Given the description of an element on the screen output the (x, y) to click on. 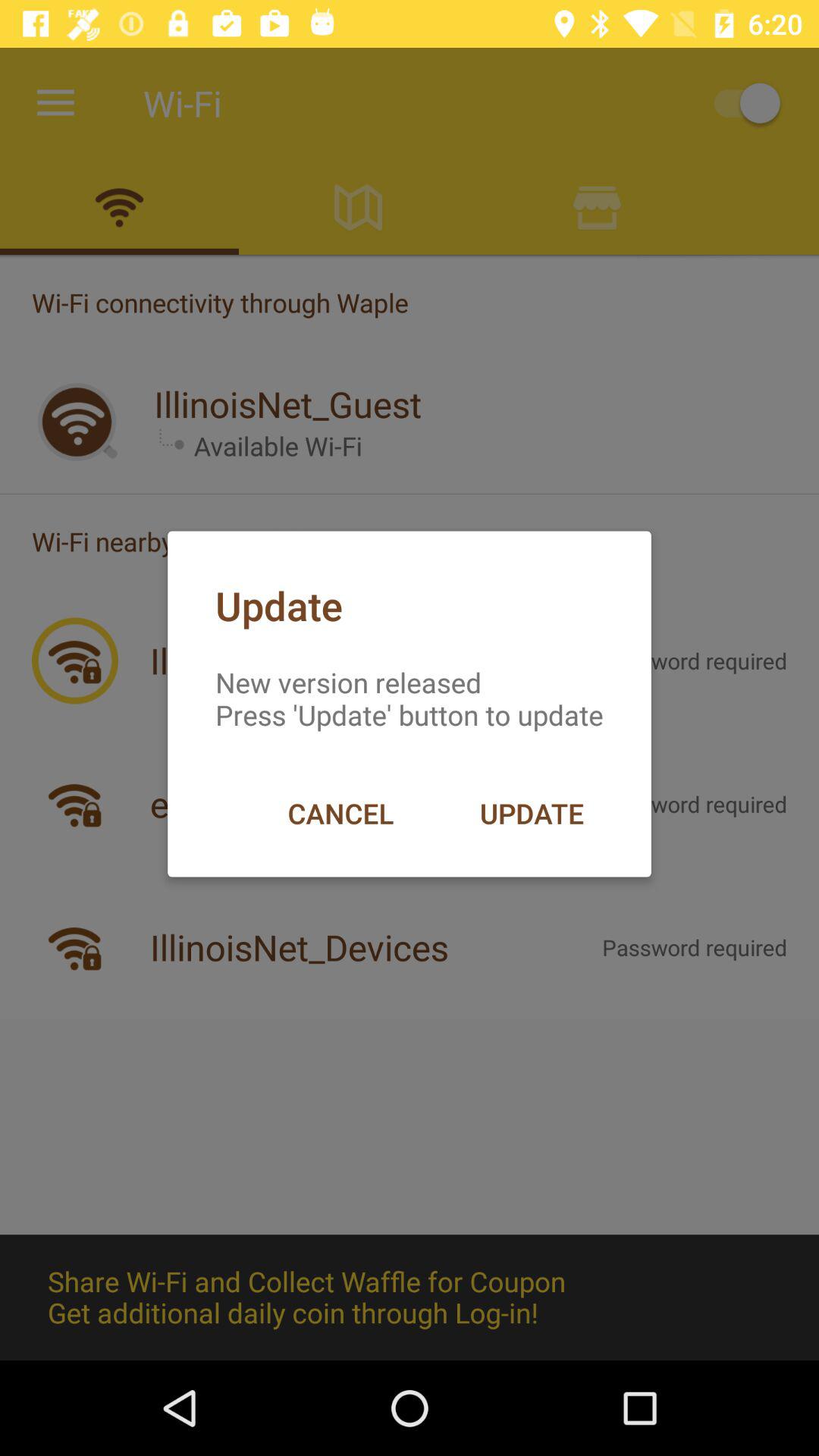
press icon next to update item (340, 813)
